Given the description of an element on the screen output the (x, y) to click on. 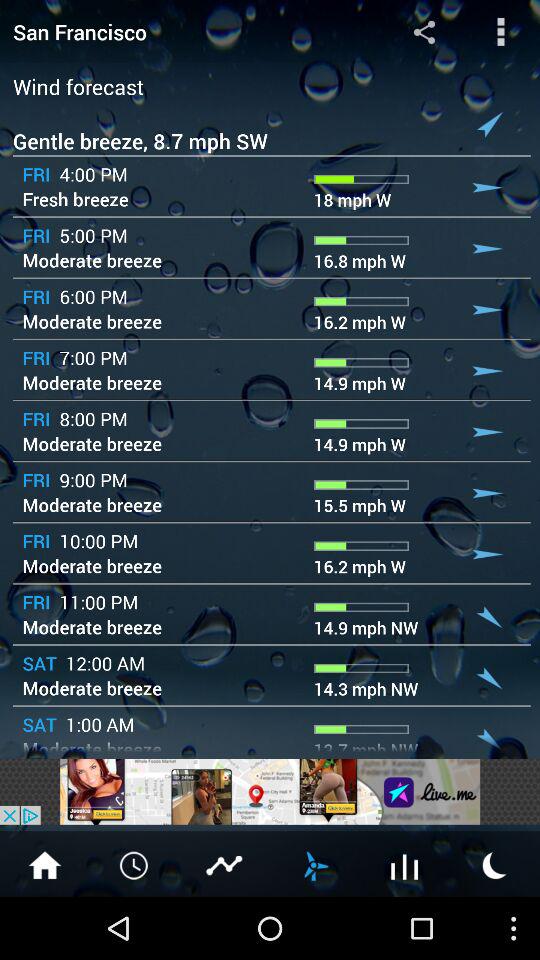
open weather (405, 864)
